Given the description of an element on the screen output the (x, y) to click on. 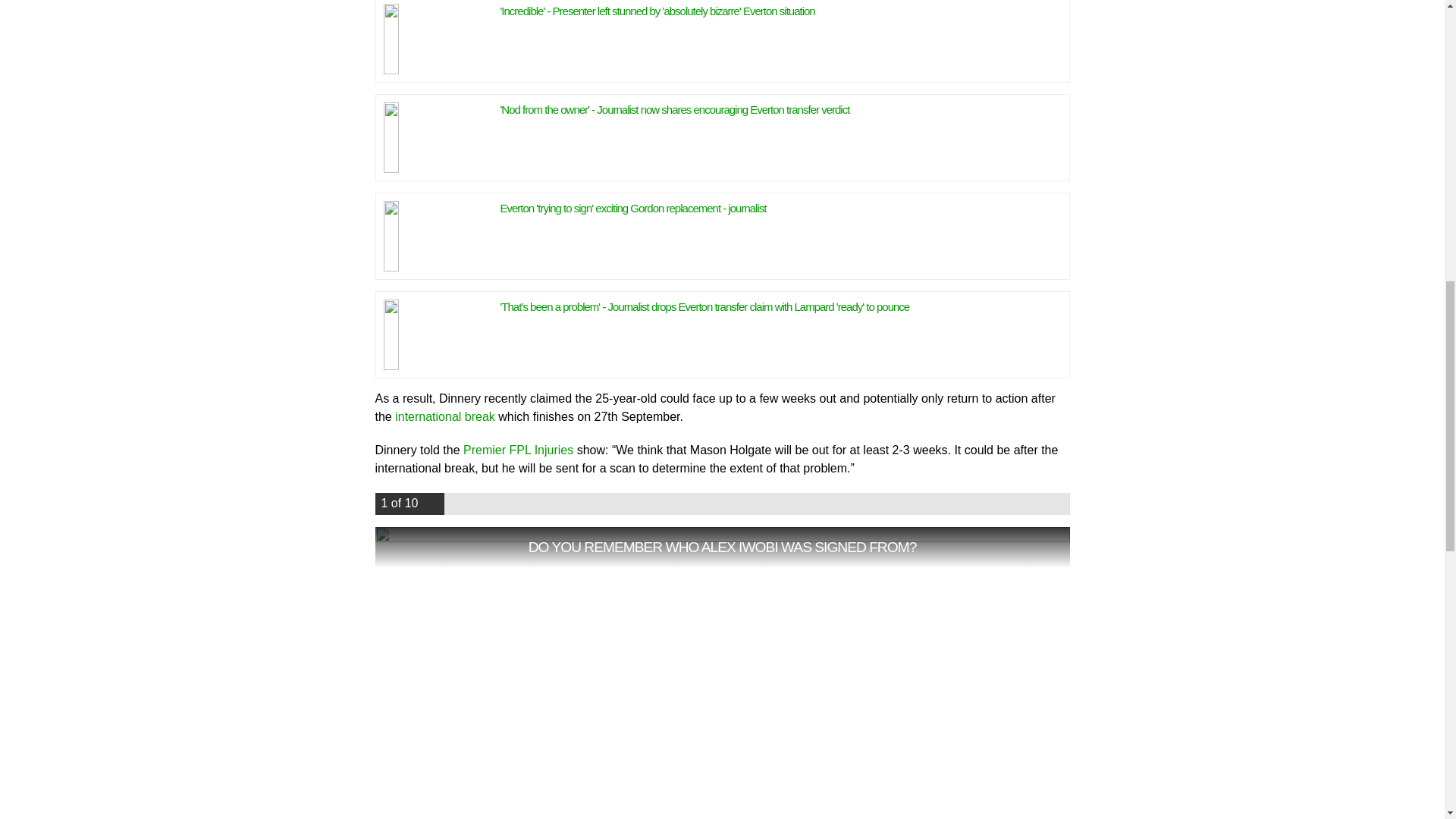
Premier FPL Injuries (518, 449)
international break (444, 416)
